Given the description of an element on the screen output the (x, y) to click on. 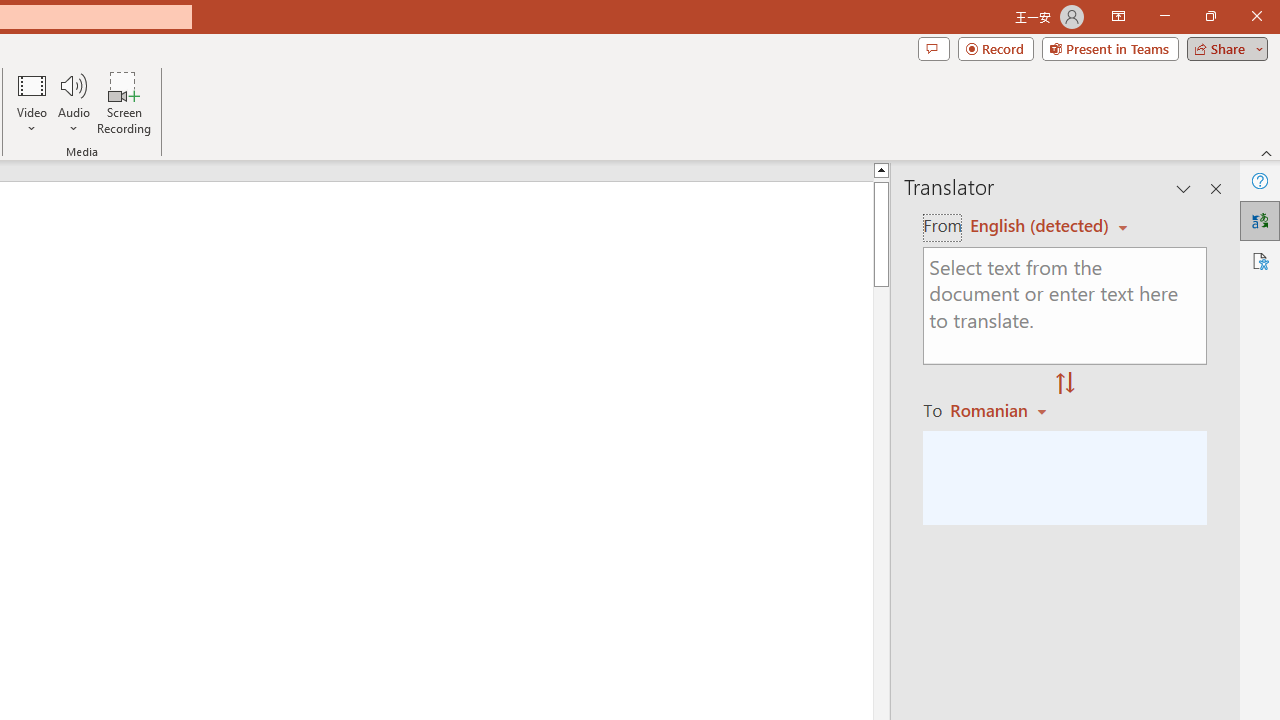
Video (31, 102)
Romanian (1001, 409)
